Given the description of an element on the screen output the (x, y) to click on. 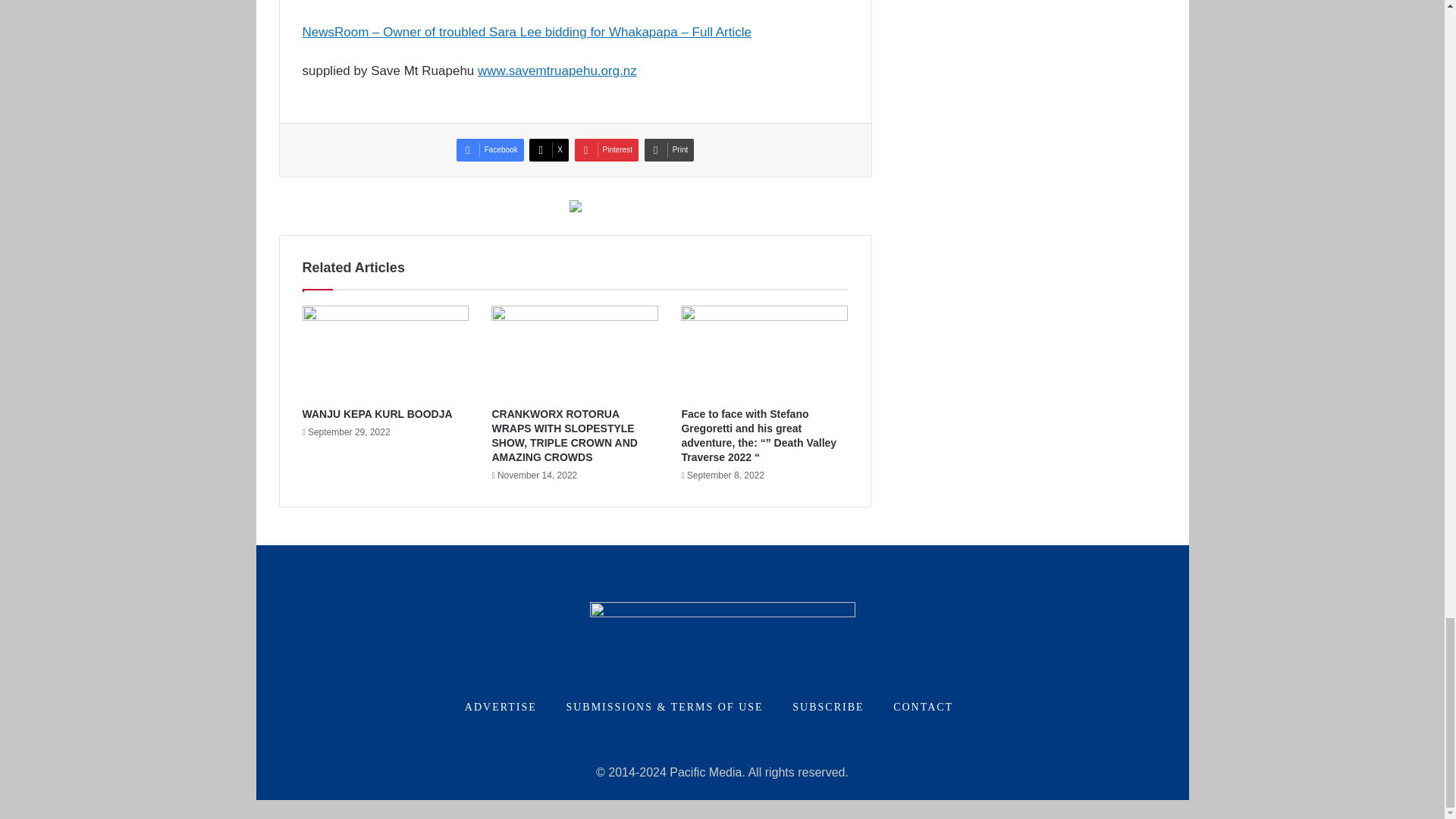
Pinterest (607, 149)
X (549, 149)
Facebook (490, 149)
Print (669, 149)
